Given the description of an element on the screen output the (x, y) to click on. 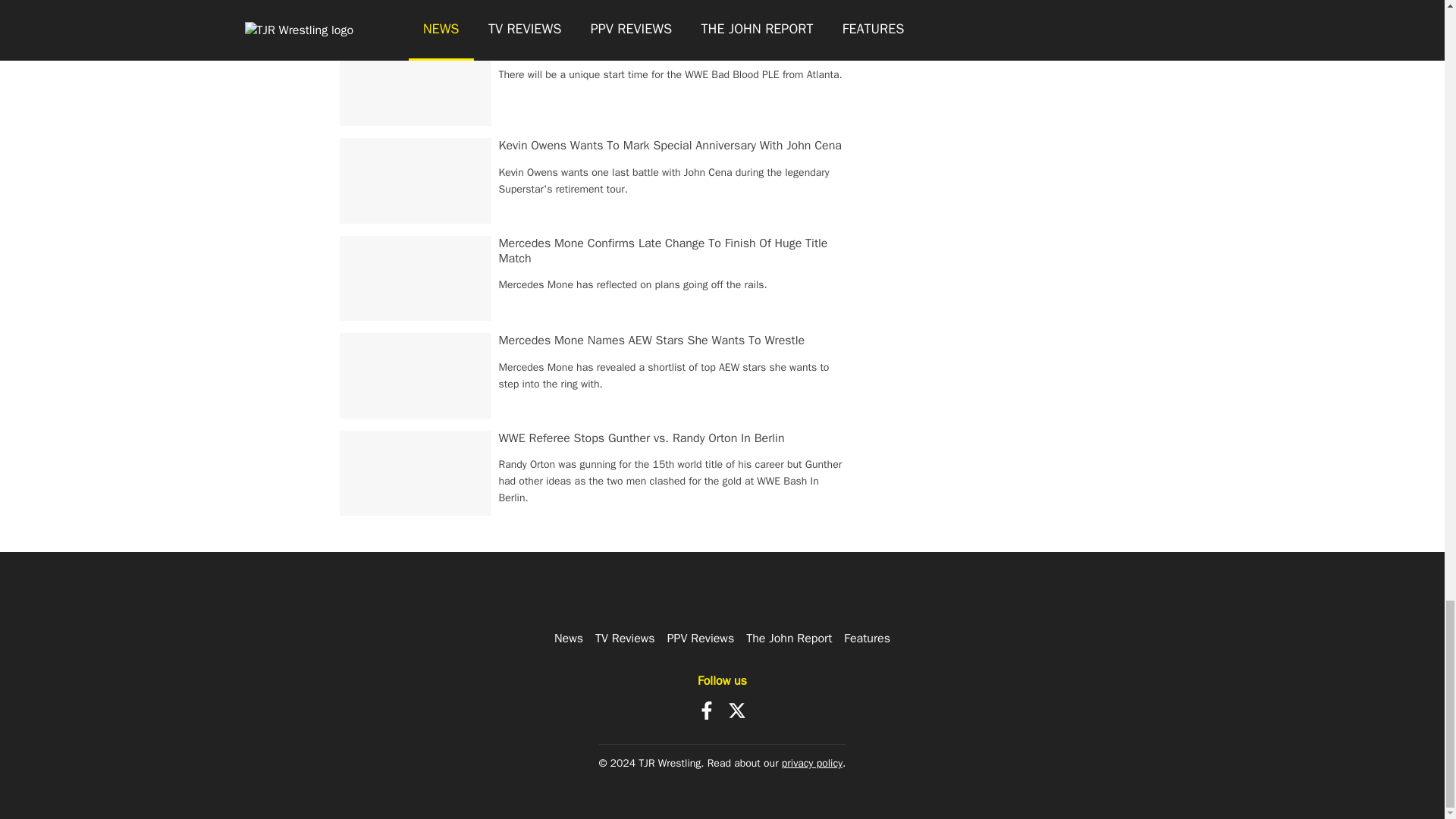
Mercedes Mone Names AEW Stars She Wants To Wrestle (652, 340)
Facebook (706, 710)
Kevin Owens Wants To Mark Special Anniversary With John Cena (670, 145)
X (736, 710)
New Start Time Revealed For WWE Bad Blood PLE (630, 48)
